Given the description of an element on the screen output the (x, y) to click on. 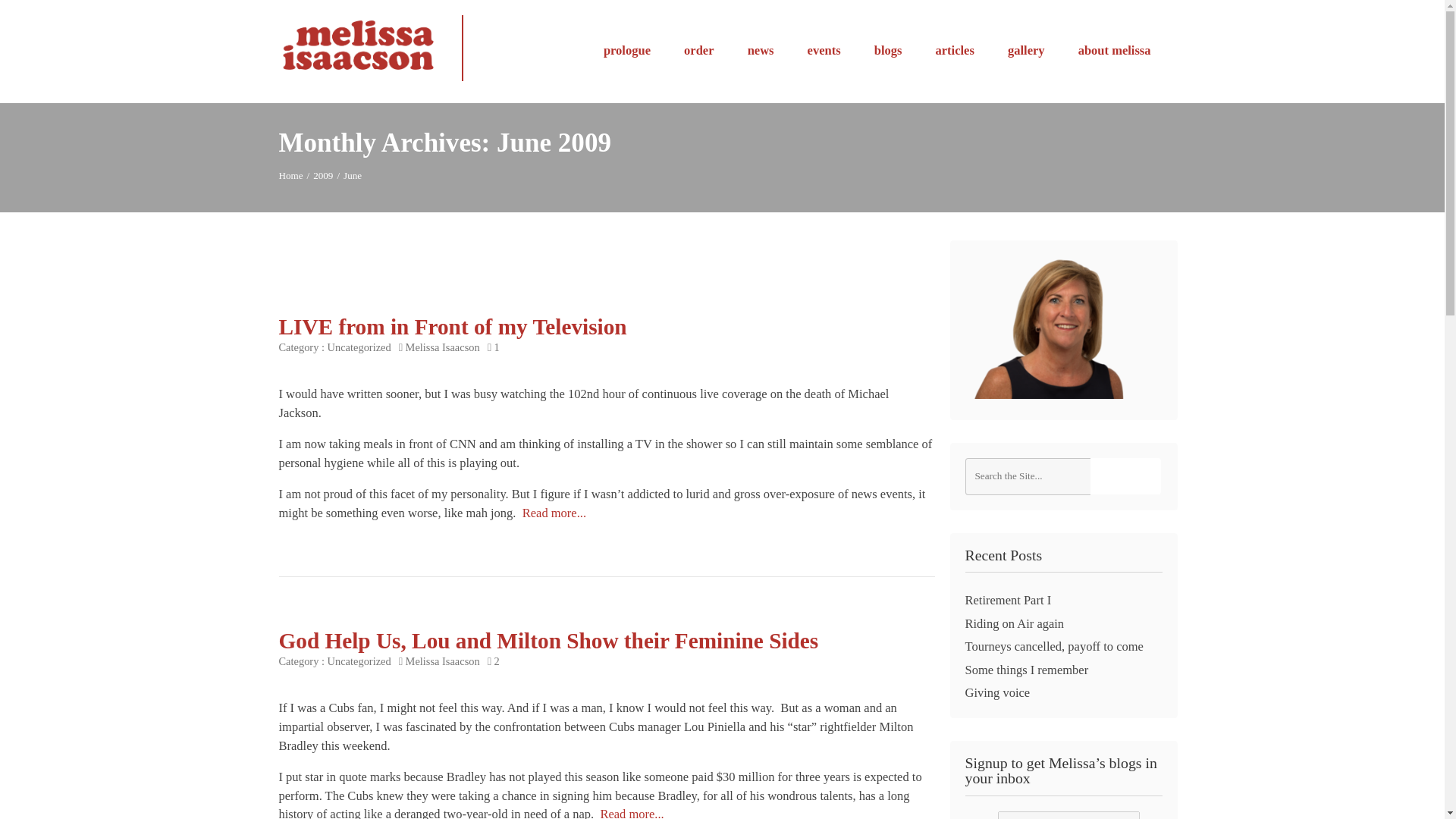
Melissa Isaacson (443, 346)
Melissa Isaacson (290, 174)
Read more... (631, 812)
God Help Us, Lou and Milton Show their Feminine Sides (548, 640)
LIVE from in Front of my Television (453, 326)
about melissa (1114, 50)
Uncategorized (359, 346)
gallery (1026, 50)
Read more... (554, 513)
Home (290, 174)
2009 (323, 174)
news (760, 50)
Melissa Isaacson (443, 661)
Uncategorized (359, 661)
2009 (323, 174)
